Given the description of an element on the screen output the (x, y) to click on. 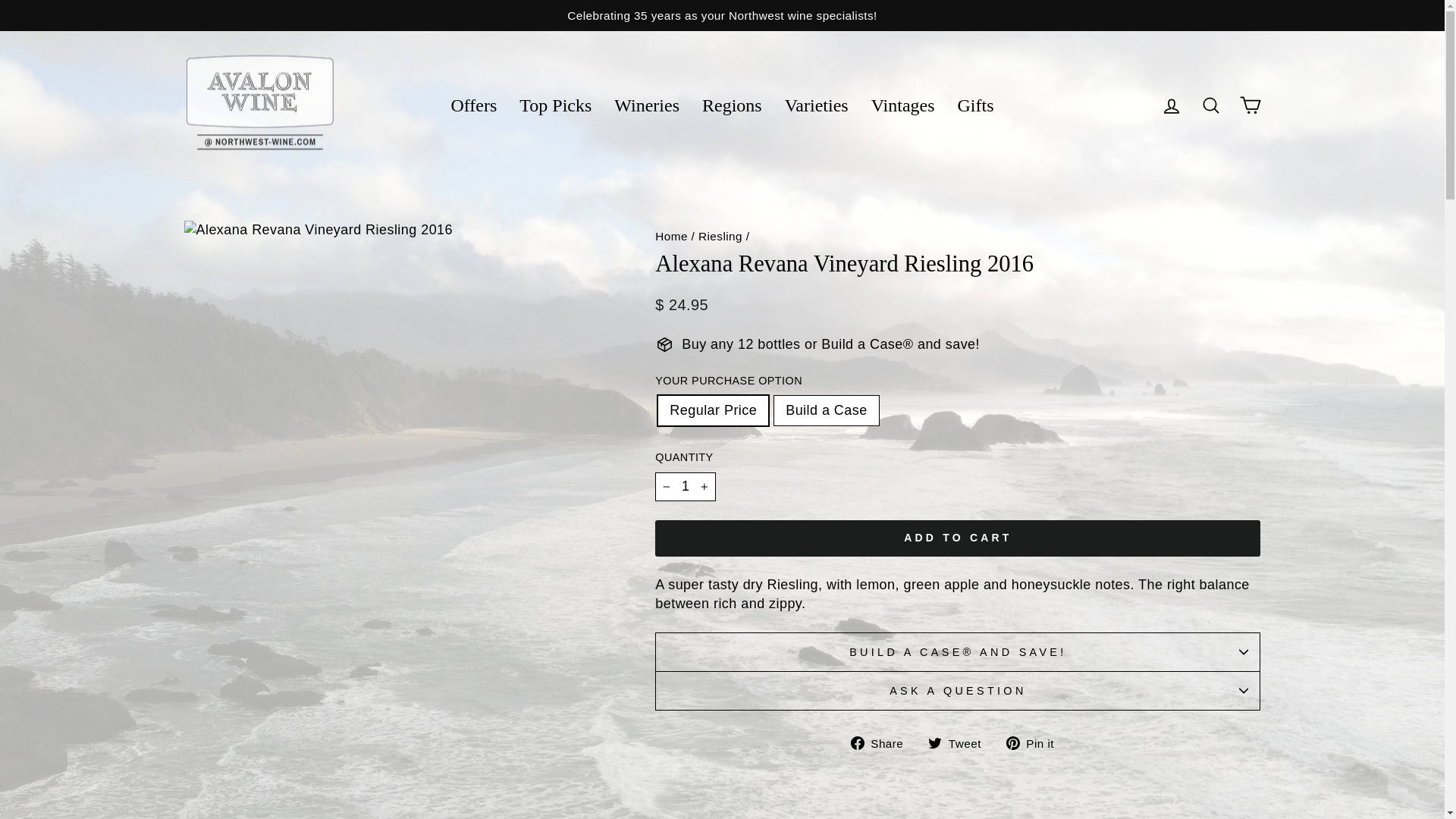
Tweet on Twitter (960, 742)
1 (685, 486)
Share on Facebook (882, 742)
Pin on Pinterest (1035, 742)
Back to the frontpage (671, 236)
